Given the description of an element on the screen output the (x, y) to click on. 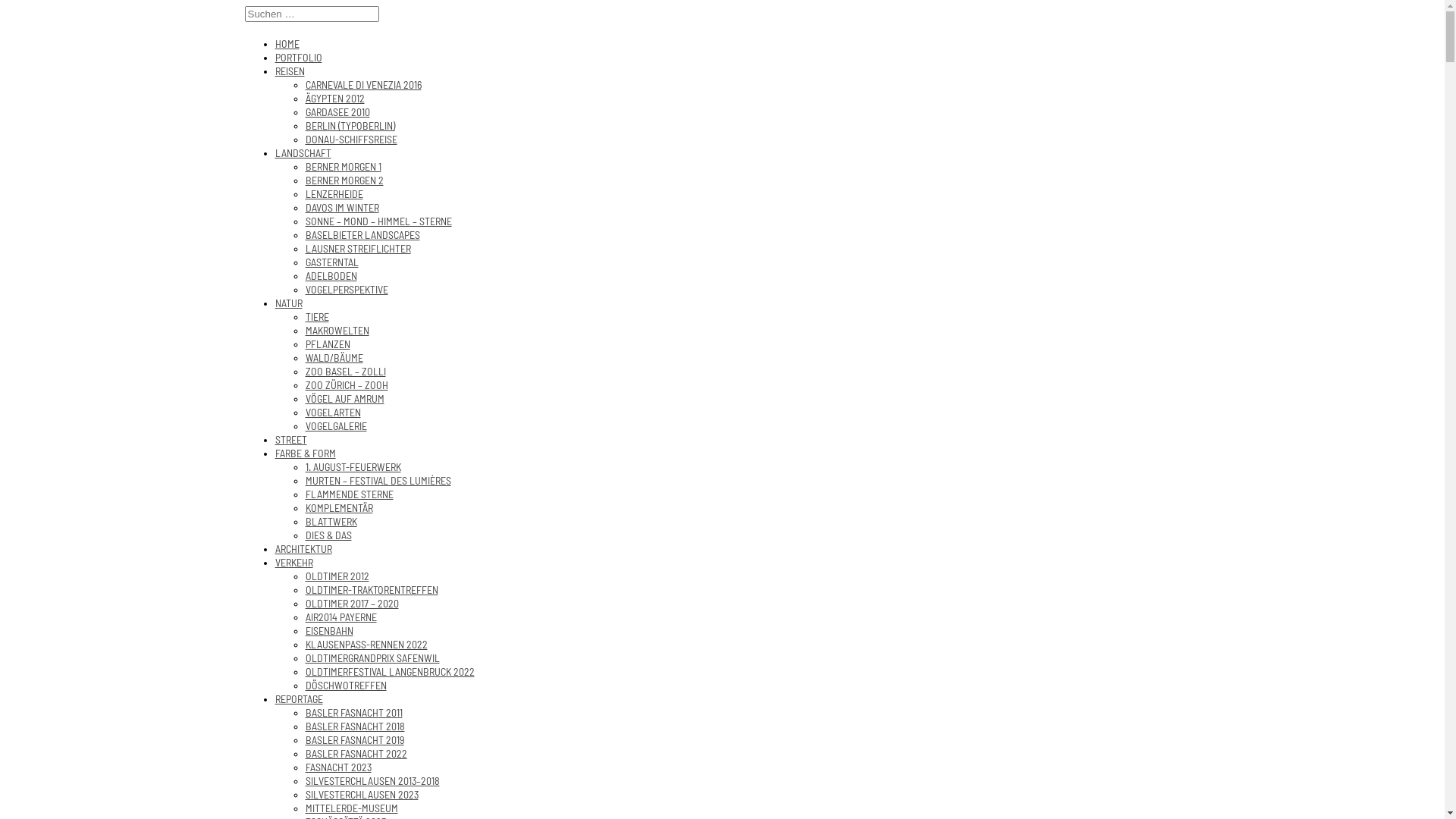
DAVOS IM WINTER Element type: text (341, 207)
REISEN Element type: text (289, 71)
BERLIN (TYPOBERLIN) Element type: text (349, 125)
FLAMMENDE STERNE Element type: text (348, 494)
BASELBIETER LANDSCAPES Element type: text (361, 234)
VOGELGALERIE Element type: text (335, 426)
SILVESTERCHLAUSEN 2023 Element type: text (360, 794)
1. AUGUST-FEUERWERK Element type: text (352, 466)
DONAU-SCHIFFSREISE Element type: text (350, 139)
MITTELERDE-MUSEUM Element type: text (350, 808)
GASTERNTAL Element type: text (330, 262)
OLDTIMER-TRAKTORENTREFFEN Element type: text (370, 589)
VOGELPERSPEKTIVE Element type: text (345, 289)
TIERE Element type: text (316, 316)
BLATTWERK Element type: text (330, 521)
FARBE & FORM Element type: text (304, 453)
VOGELARTEN Element type: text (332, 412)
LAUSNER STREIFLICHTER Element type: text (357, 248)
BASLER FASNACHT 2022 Element type: text (355, 753)
HOME Element type: text (286, 43)
OLDTIMER 2012 Element type: text (336, 576)
FASNACHT 2023 Element type: text (337, 767)
BERNER MORGEN 2 Element type: text (343, 180)
PORTFOLIO Element type: text (297, 57)
VERKEHR Element type: text (293, 562)
BASLER FASNACHT 2018 Element type: text (354, 726)
STREET Element type: text (290, 439)
EISENBAHN Element type: text (328, 630)
BERNER MORGEN 1 Element type: text (342, 166)
AIR2014 PAYERNE Element type: text (340, 617)
KLAUSENPASS-RENNEN 2022 Element type: text (365, 644)
NATUR Element type: text (287, 303)
REPORTAGE Element type: text (298, 699)
OLDTIMERGRANDPRIX SAFENWIL Element type: text (371, 658)
DIES & DAS Element type: text (327, 535)
ADELBODEN Element type: text (330, 275)
BASLER FASNACHT 2011 Element type: text (352, 712)
ARCHITEKTUR Element type: text (302, 548)
PFLANZEN Element type: text (326, 344)
GARDASEE 2010 Element type: text (336, 112)
LANDSCHAFT Element type: text (302, 153)
CARNEVALE DI VENEZIA 2016 Element type: text (362, 84)
BASLER FASNACHT 2019 Element type: text (353, 739)
LENZERHEIDE Element type: text (333, 193)
OLDTIMERFESTIVAL LANGENBRUCK 2022 Element type: text (388, 671)
MAKROWELTEN Element type: text (336, 330)
